Given the description of an element on the screen output the (x, y) to click on. 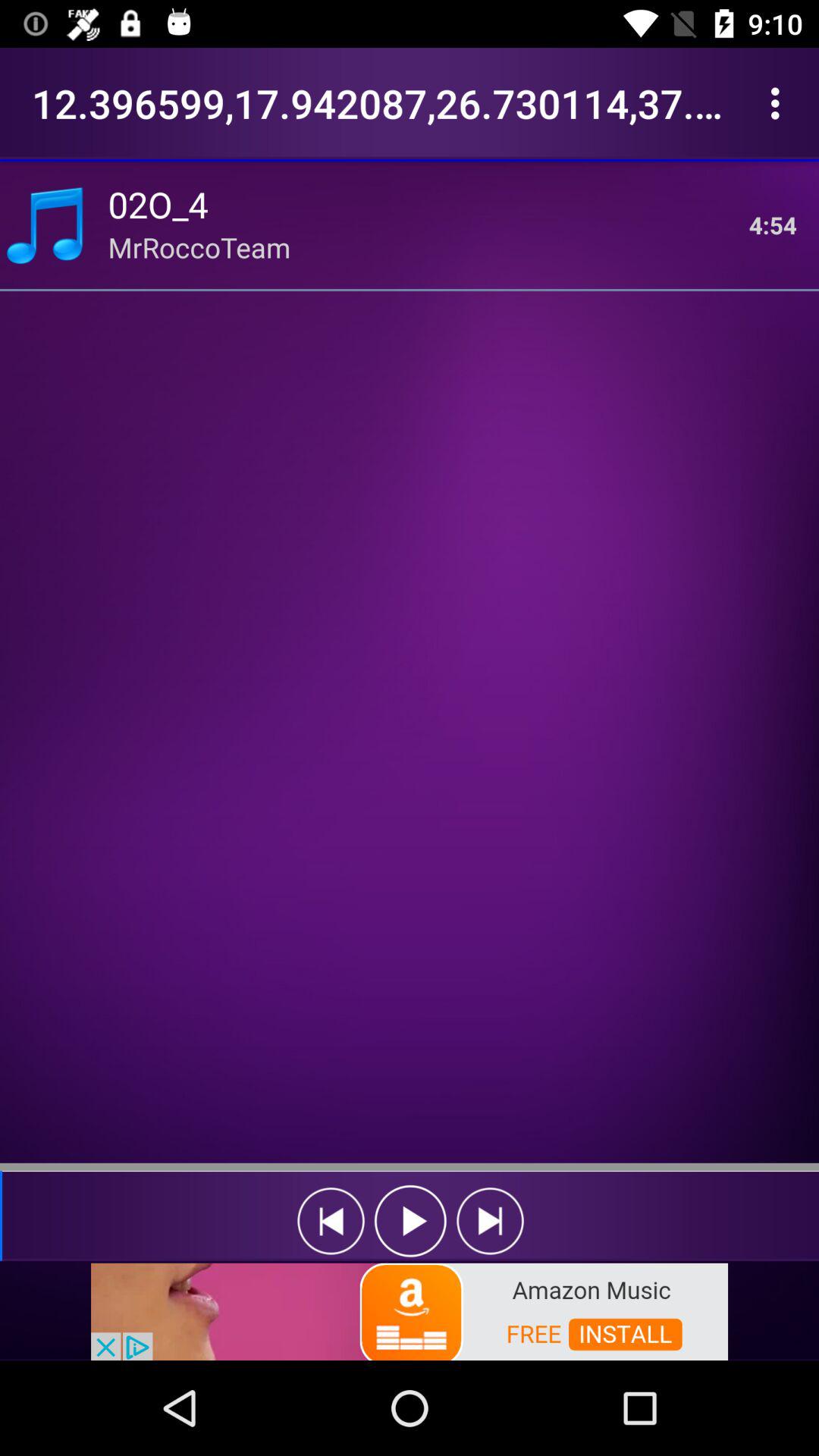
fast forward (490, 1220)
